Given the description of an element on the screen output the (x, y) to click on. 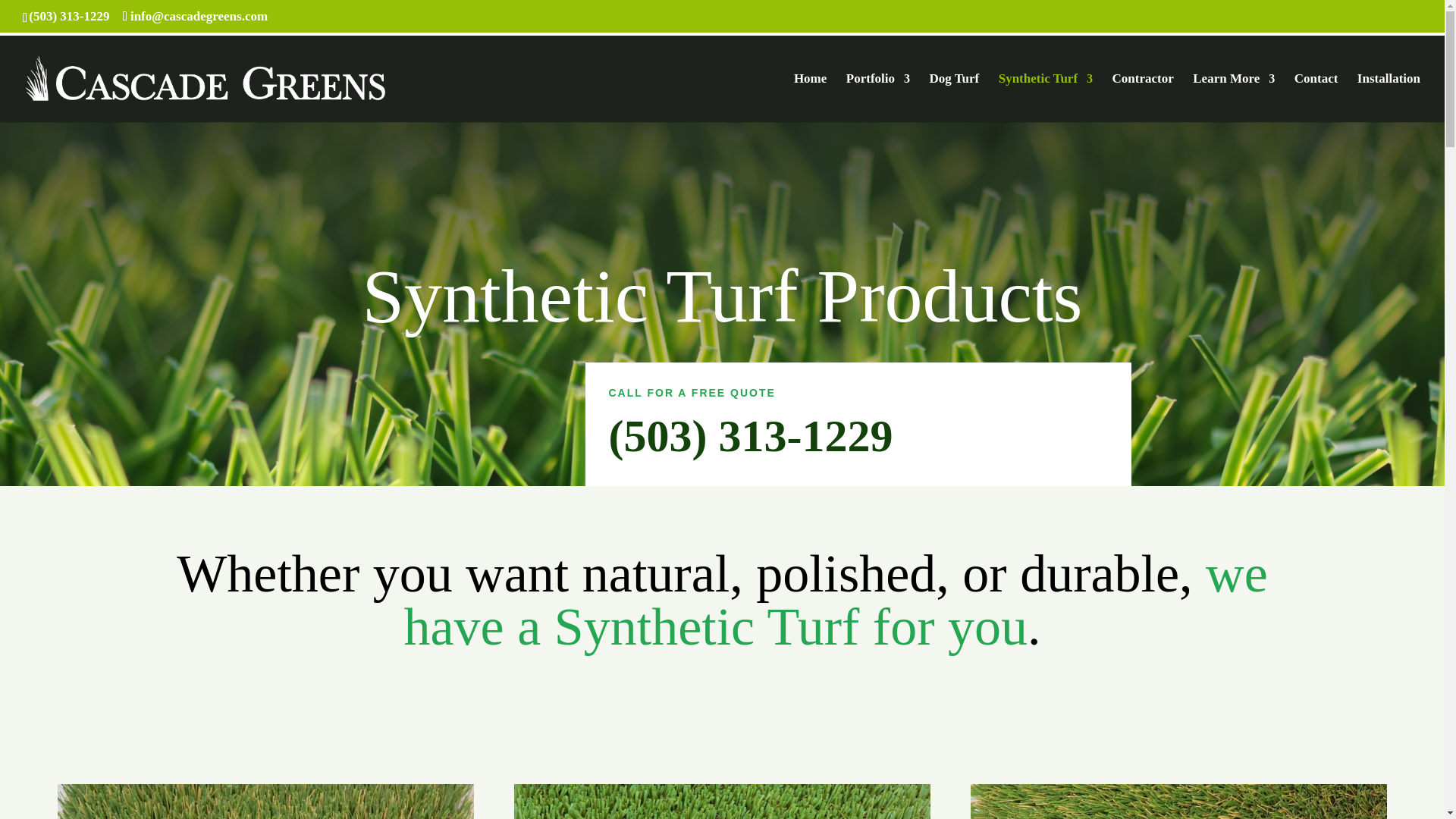
Dog Turf (954, 96)
Contractor (1142, 96)
Synthetic Turf (1045, 96)
Learn More (1233, 96)
Contact (1316, 96)
Portfolio (877, 96)
Installation (1388, 96)
